Given the description of an element on the screen output the (x, y) to click on. 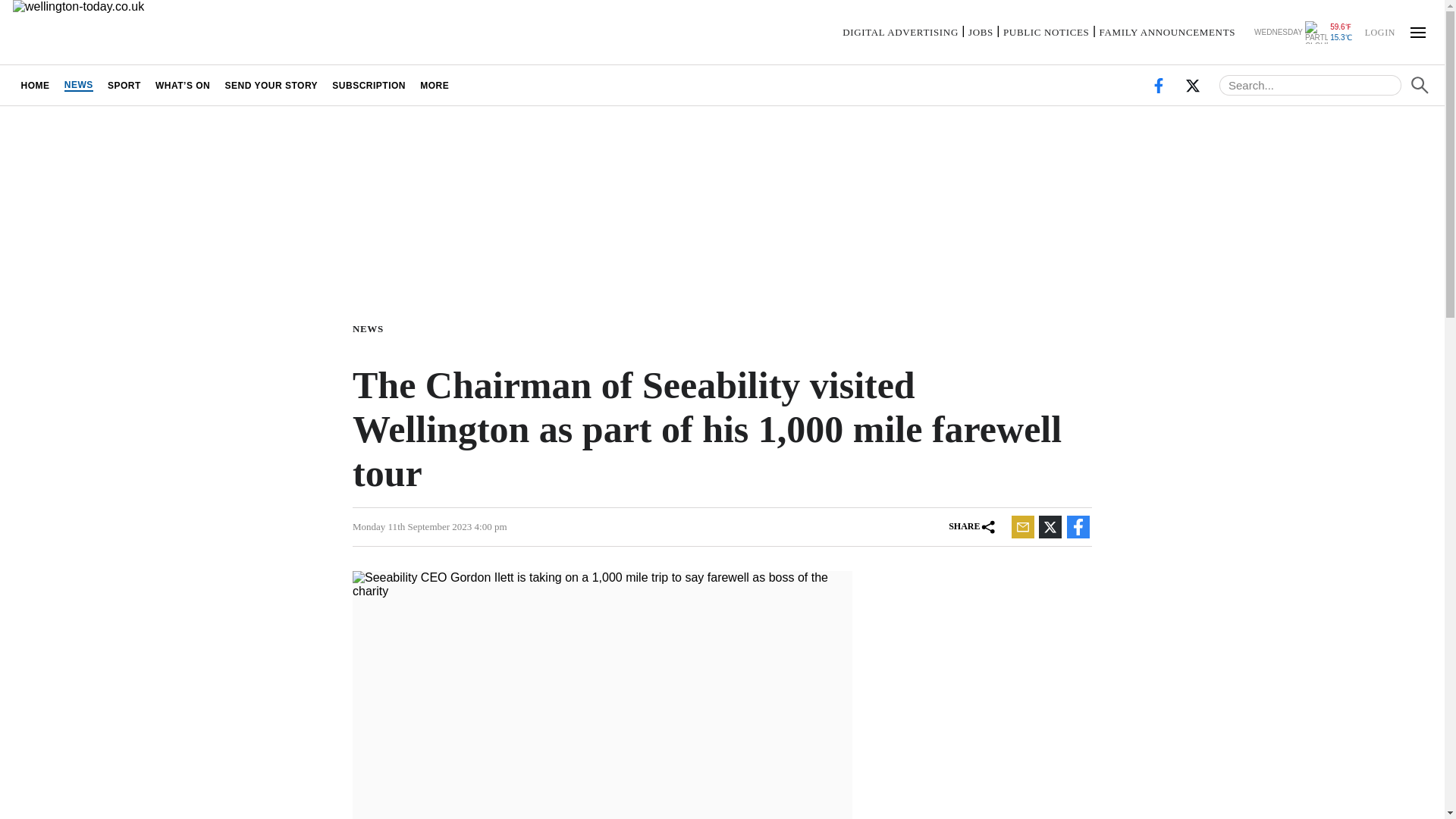
SEND YOUR STORY (270, 85)
HOME (34, 85)
NEWS (371, 328)
MORE (435, 85)
SPORT (124, 85)
SUBSCRIPTION (368, 85)
FAMILY ANNOUNCEMENTS (1166, 32)
LOGIN (1379, 31)
NEWS (78, 85)
